Given the description of an element on the screen output the (x, y) to click on. 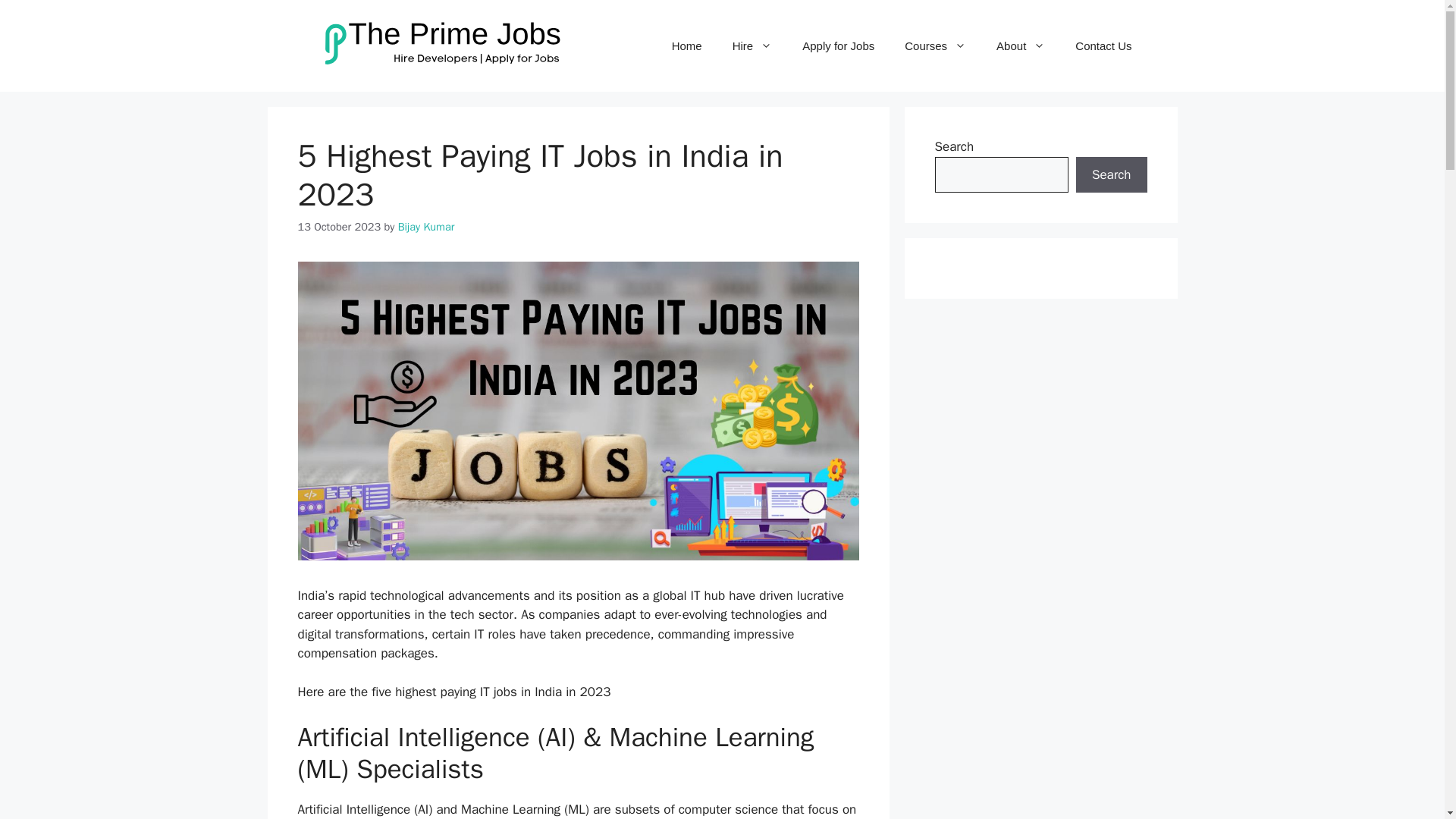
Home (686, 45)
Courses (935, 45)
Search (1111, 175)
Hire (752, 45)
View all posts by Bijay Kumar (425, 226)
About (1020, 45)
Bijay Kumar (425, 226)
Contact Us (1103, 45)
Apply for Jobs (838, 45)
